Given the description of an element on the screen output the (x, y) to click on. 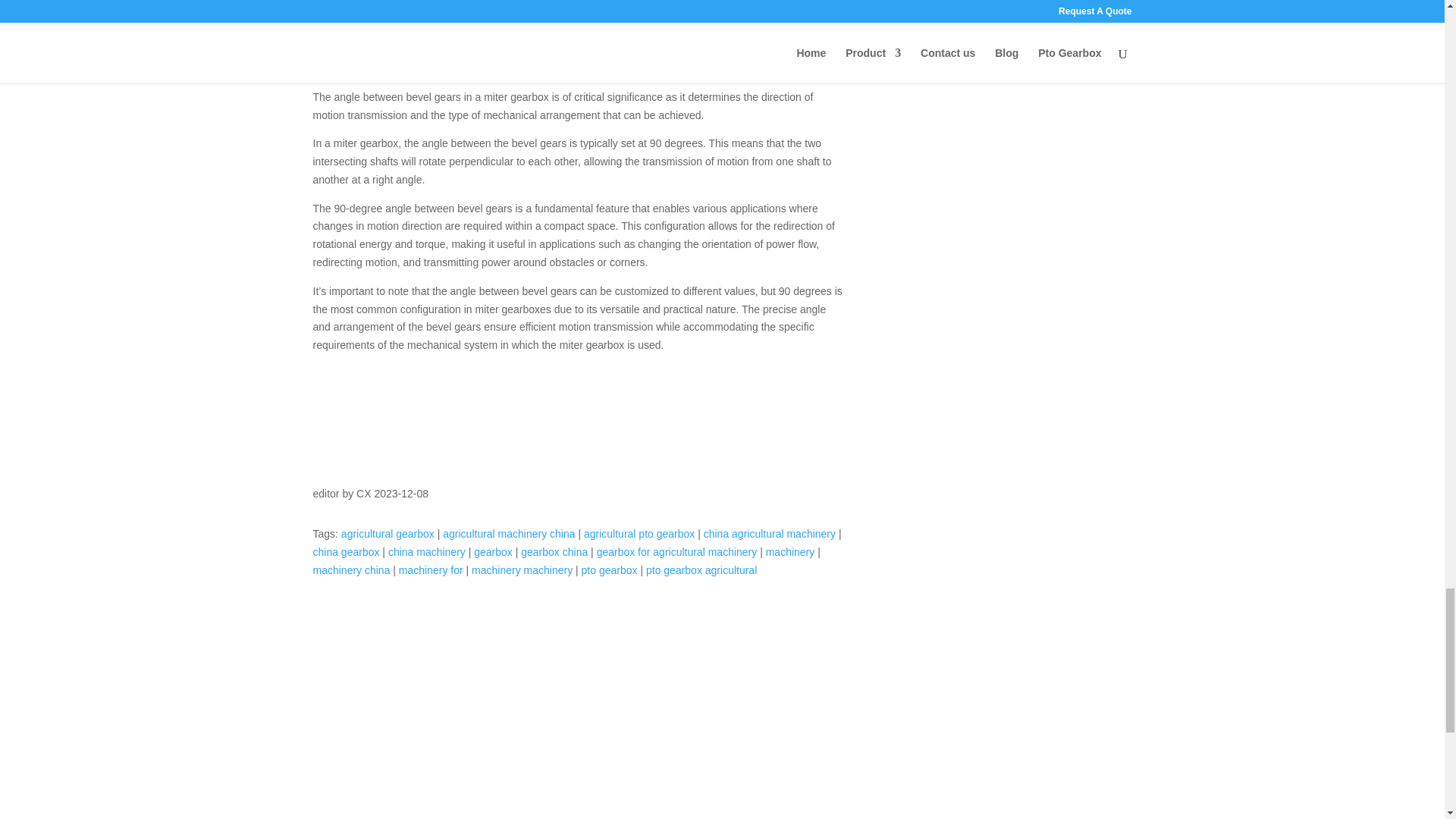
agricultural pto gearbox (638, 533)
pto gearbox (608, 570)
china machinery (426, 551)
china agricultural machinery (769, 533)
china gearbox (345, 551)
agricultural gearbox (386, 533)
gearbox for agricultural machinery (676, 551)
pto gearbox agricultural (701, 570)
gearbox china (554, 551)
agricultural machinery china (508, 533)
machinery (790, 551)
machinery china (351, 570)
gearbox (493, 551)
machinery machinery (521, 570)
machinery for (430, 570)
